Given the description of an element on the screen output the (x, y) to click on. 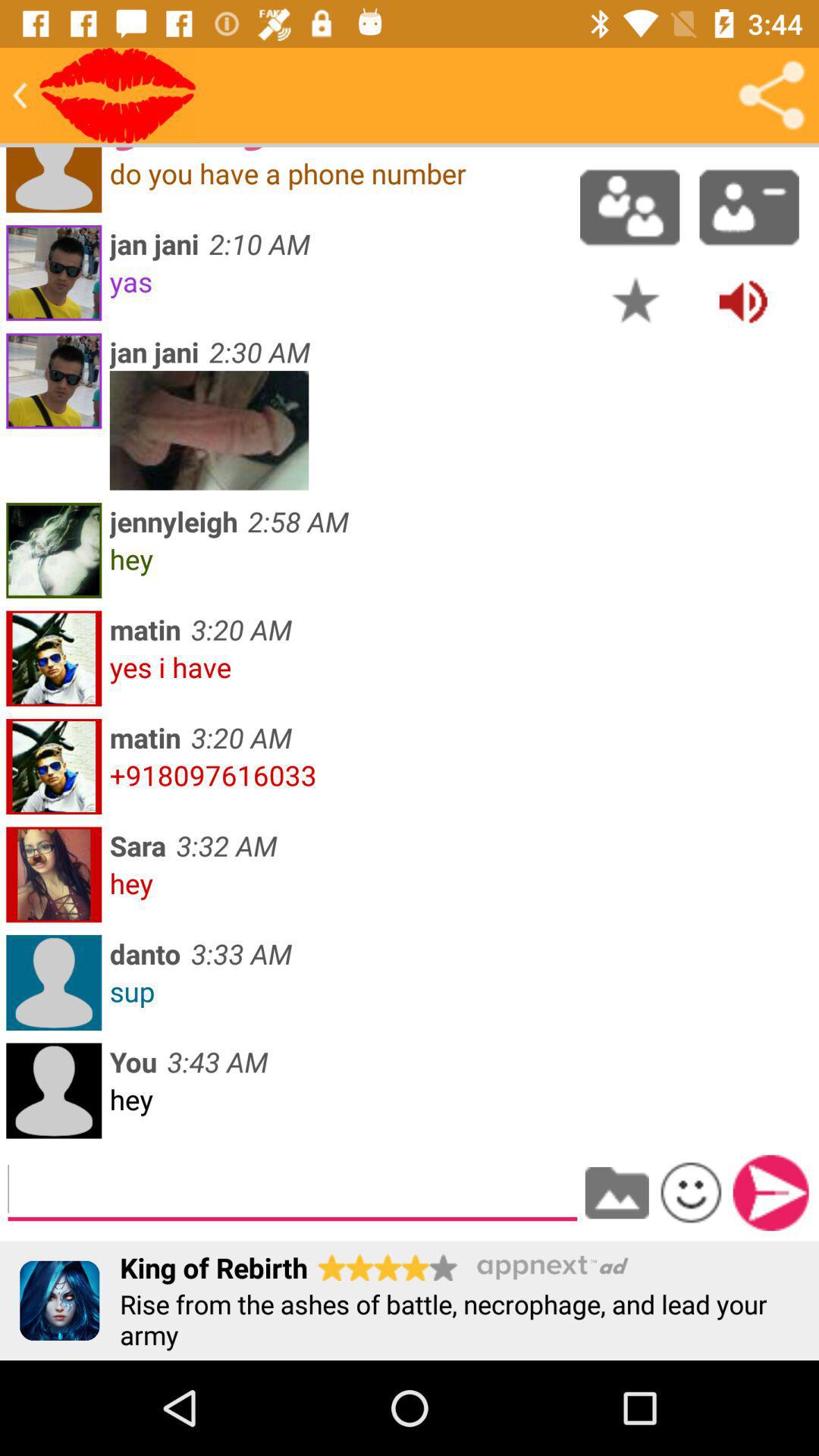
turn on icon above the rise from the (770, 1192)
